Given the description of an element on the screen output the (x, y) to click on. 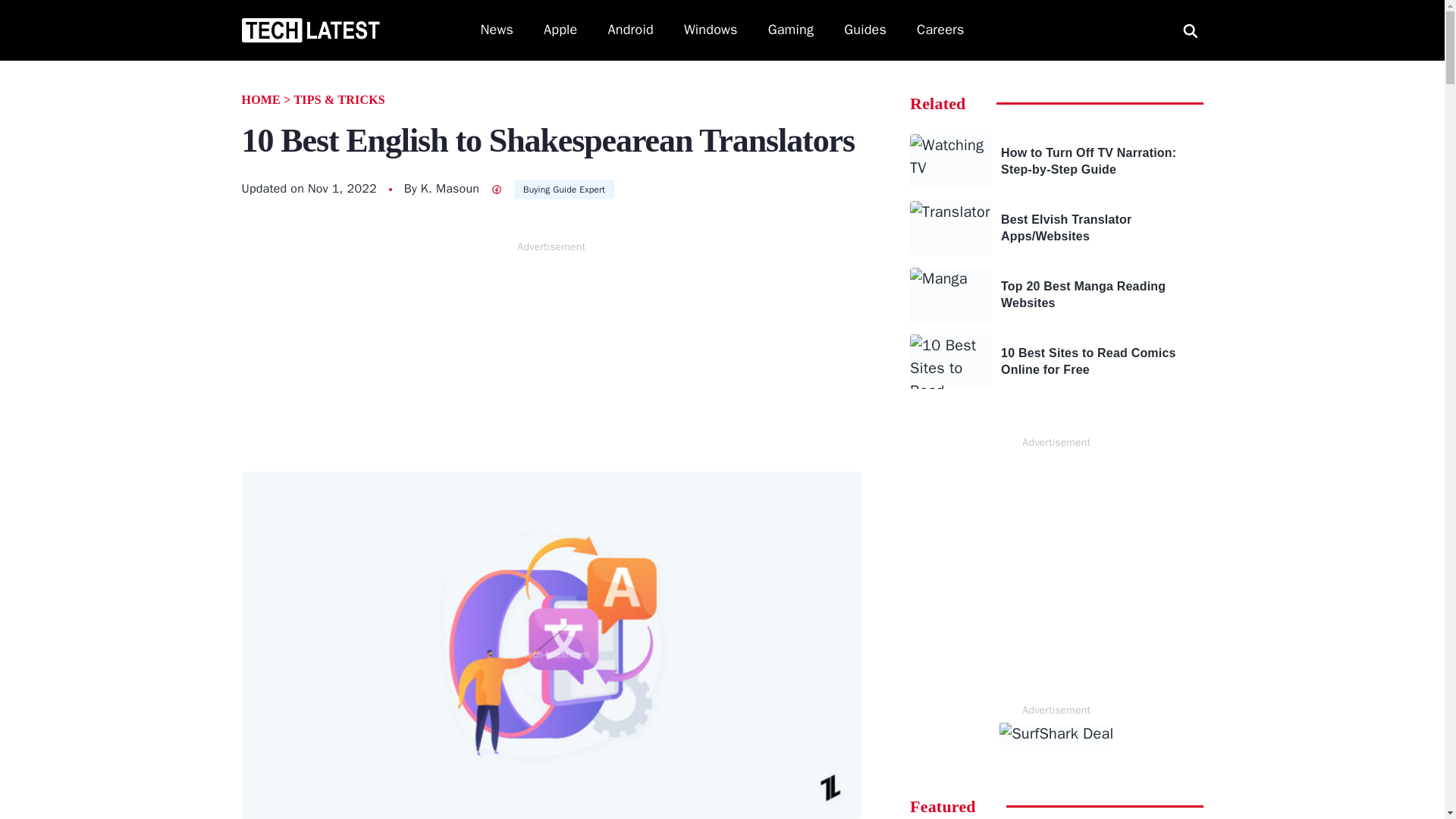
Guides (865, 30)
Gaming (790, 30)
HOME (260, 99)
News (496, 30)
Careers (940, 30)
Windows (711, 30)
Android (630, 30)
K. Masoun (449, 188)
Apple (560, 30)
Search for: (1189, 29)
